Given the description of an element on the screen output the (x, y) to click on. 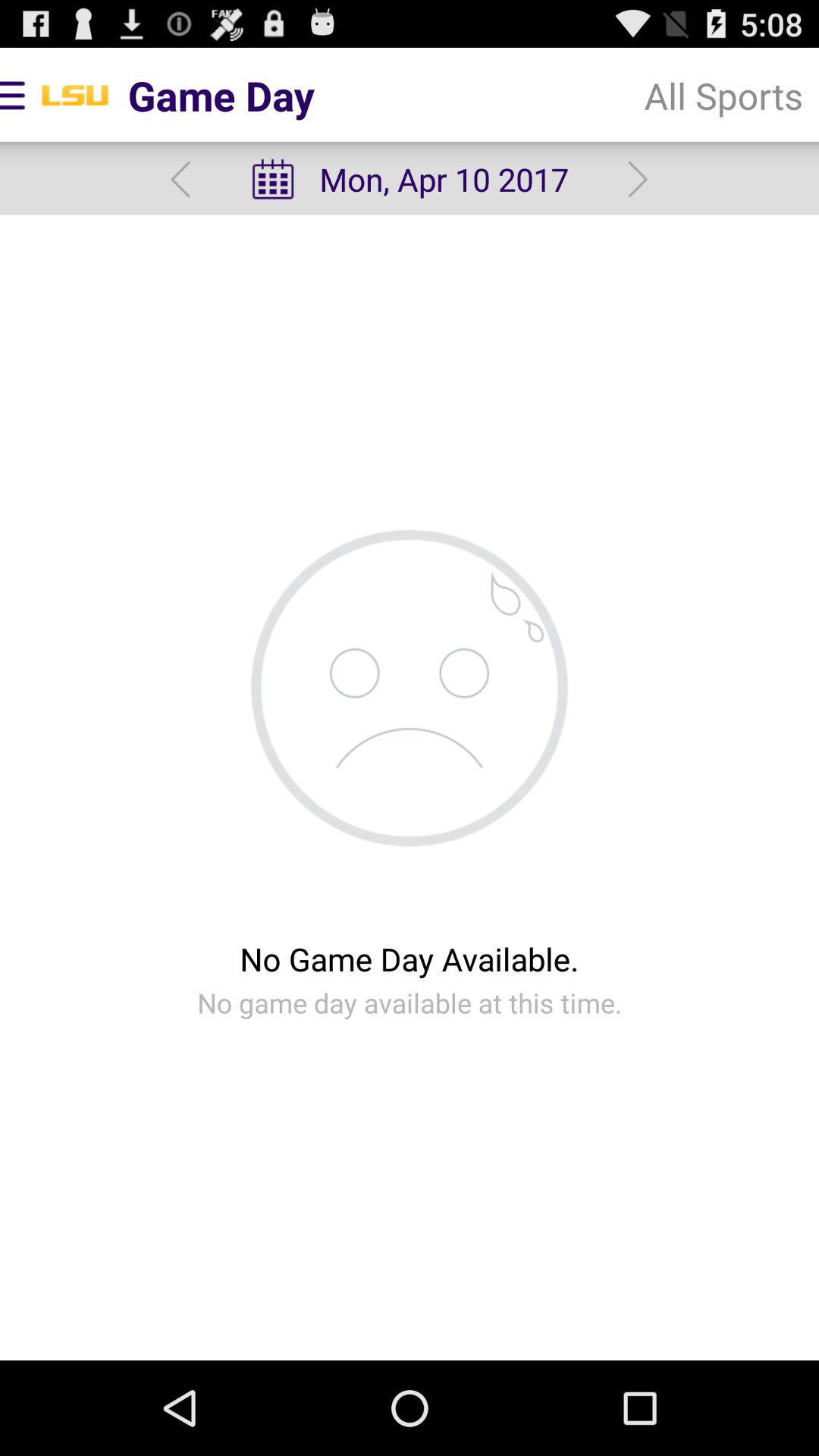
go to the next day (637, 178)
